Given the description of an element on the screen output the (x, y) to click on. 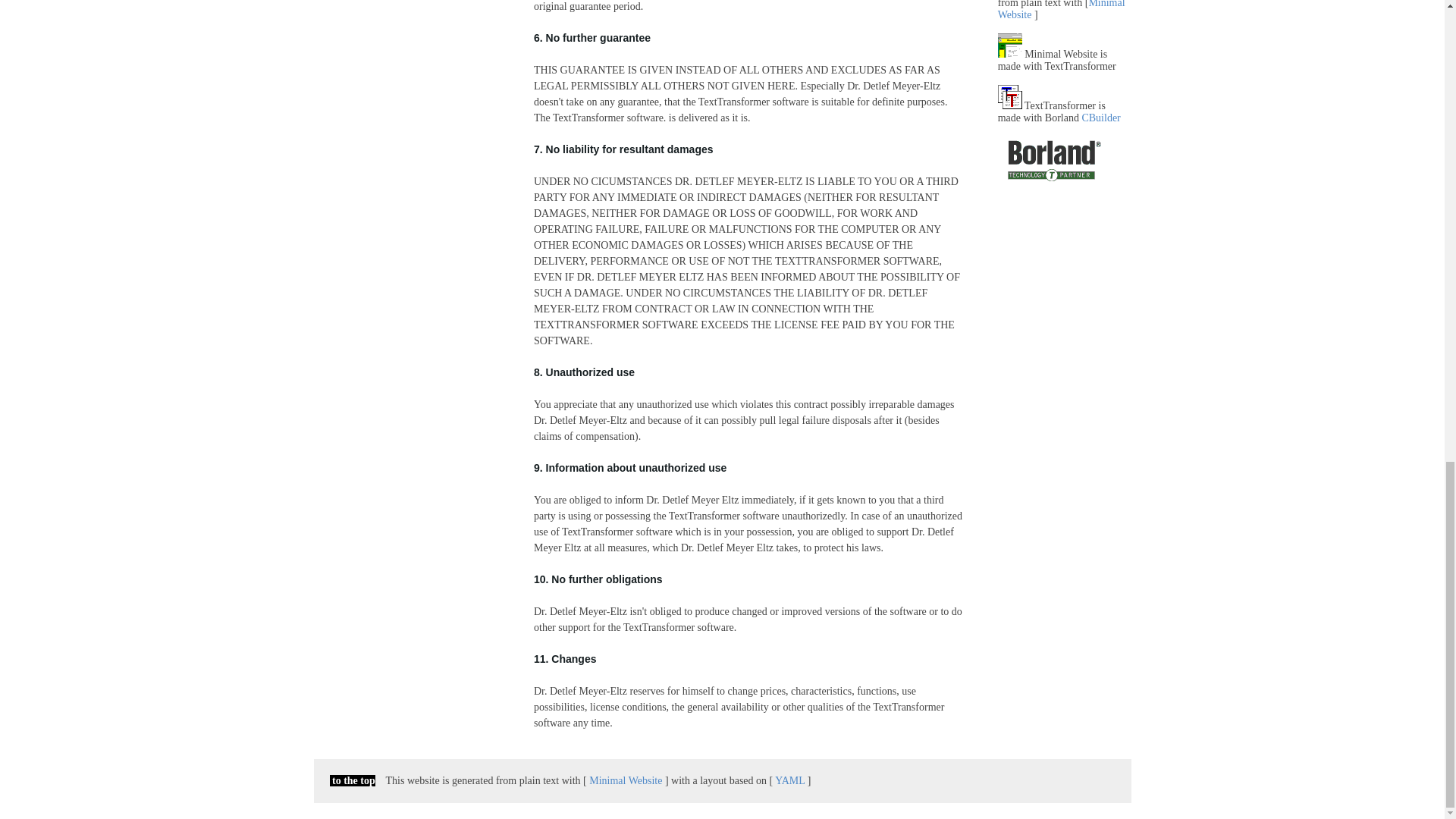
Minimal Website (625, 780)
to the top (351, 780)
CBuilder (1100, 117)
 to the top (351, 780)
Minimal Website (1061, 10)
YAML (789, 780)
